Given the description of an element on the screen output the (x, y) to click on. 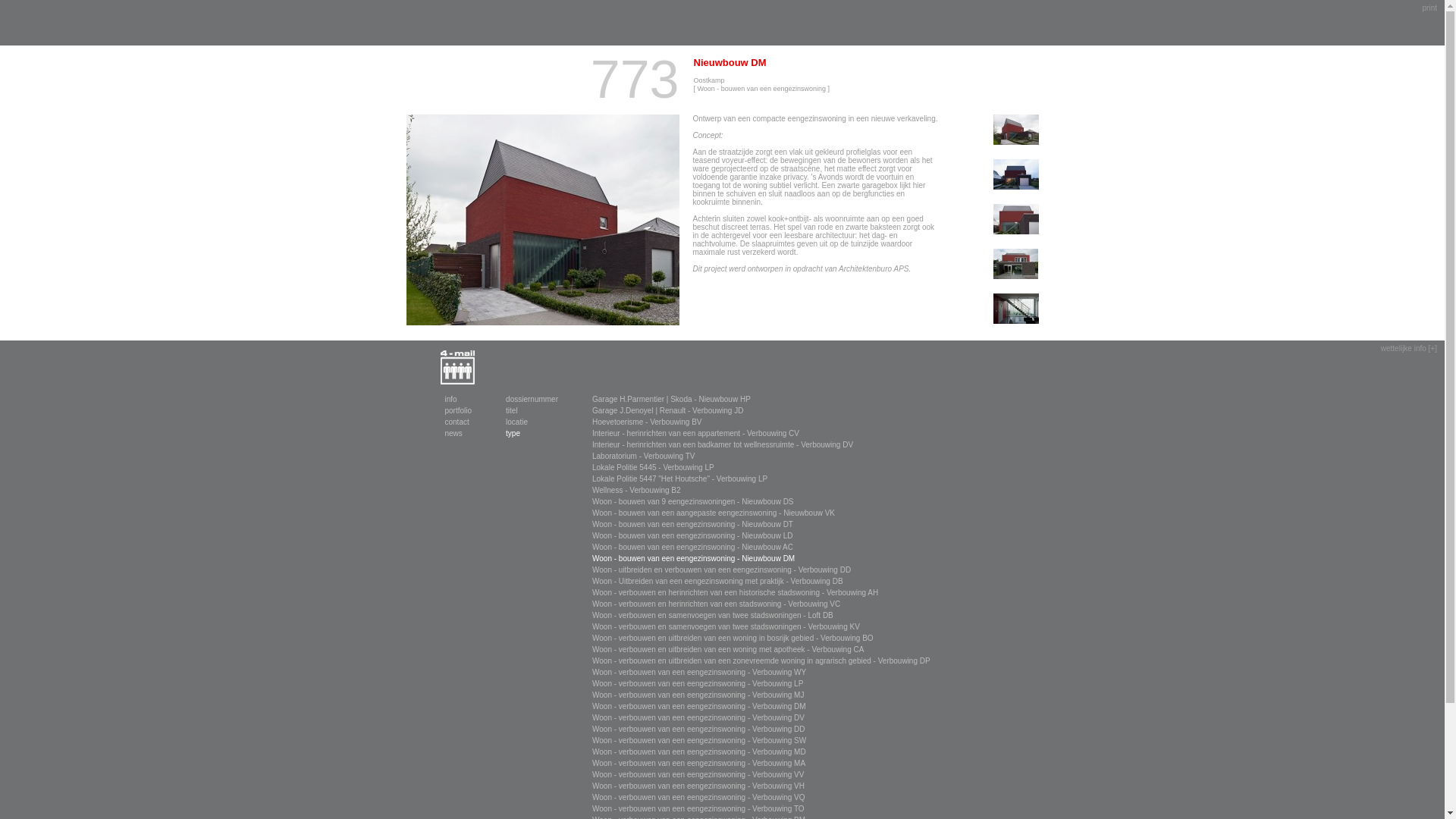
Interieur - herinrichten van een appartement - Verbouwing CV Element type: text (695, 433)
locatie Element type: text (516, 421)
Woon - verbouwen van een eengezinswoning - Verbouwing DD Element type: text (698, 728)
info Element type: text (450, 399)
Woon - bouwen van een eengezinswoning - Nieuwbouw AC Element type: text (692, 546)
Woon - verbouwen van een eengezinswoning - Verbouwing VV Element type: text (697, 774)
Lokale Politie 5447 "Het Houtsche" - Verbouwing LP Element type: text (679, 478)
Hoevetoerisme - Verbouwing BV Element type: text (647, 421)
Woon - bouwen van een eengezinswoning - Nieuwbouw LD Element type: text (692, 535)
dossiernummer Element type: text (531, 399)
Wellness - Verbouwing B2 Element type: text (636, 490)
Woon - verbouwen van een eengezinswoning - Verbouwing WY Element type: text (699, 672)
Woon - verbouwen van een eengezinswoning - Verbouwing DM Element type: text (699, 706)
news Element type: text (452, 433)
portfolio Element type: text (457, 410)
Woon - bouwen van een eengezinswoning - Nieuwbouw DT Element type: text (692, 524)
Lokale Politie 5445 - Verbouwing LP Element type: text (653, 467)
Woon - verbouwen van een eengezinswoning - Verbouwing LP Element type: text (697, 683)
Woon - verbouwen van een eengezinswoning - Verbouwing MA Element type: text (698, 763)
Woon - verbouwen van een eengezinswoning - Verbouwing SW Element type: text (699, 740)
Garage H.Parmentier | Skoda - Nieuwbouw HP Element type: text (671, 399)
Garage J.Denoyel | Renault - Verbouwing JD Element type: text (667, 410)
titel Element type: text (511, 410)
wettelijke info [+] Element type: text (1408, 348)
Woon - verbouwen van een eengezinswoning - Verbouwing VH Element type: text (698, 785)
Laboratorium - Verbouwing TV Element type: text (643, 455)
Woon - verbouwen van een eengezinswoning - Verbouwing MJ Element type: text (697, 694)
Woon - verbouwen van een eengezinswoning - Verbouwing DV Element type: text (698, 717)
Woon - verbouwen van een eengezinswoning - Verbouwing MD Element type: text (699, 751)
contact Element type: text (456, 421)
Woon - verbouwen van een eengezinswoning - Verbouwing VQ Element type: text (698, 797)
Woon - verbouwen van een eengezinswoning - Verbouwing TO Element type: text (698, 808)
Woon - bouwen van 9 eengezinswoningen - Nieuwbouw DS Element type: text (692, 501)
print Element type: text (1429, 7)
